Given the description of an element on the screen output the (x, y) to click on. 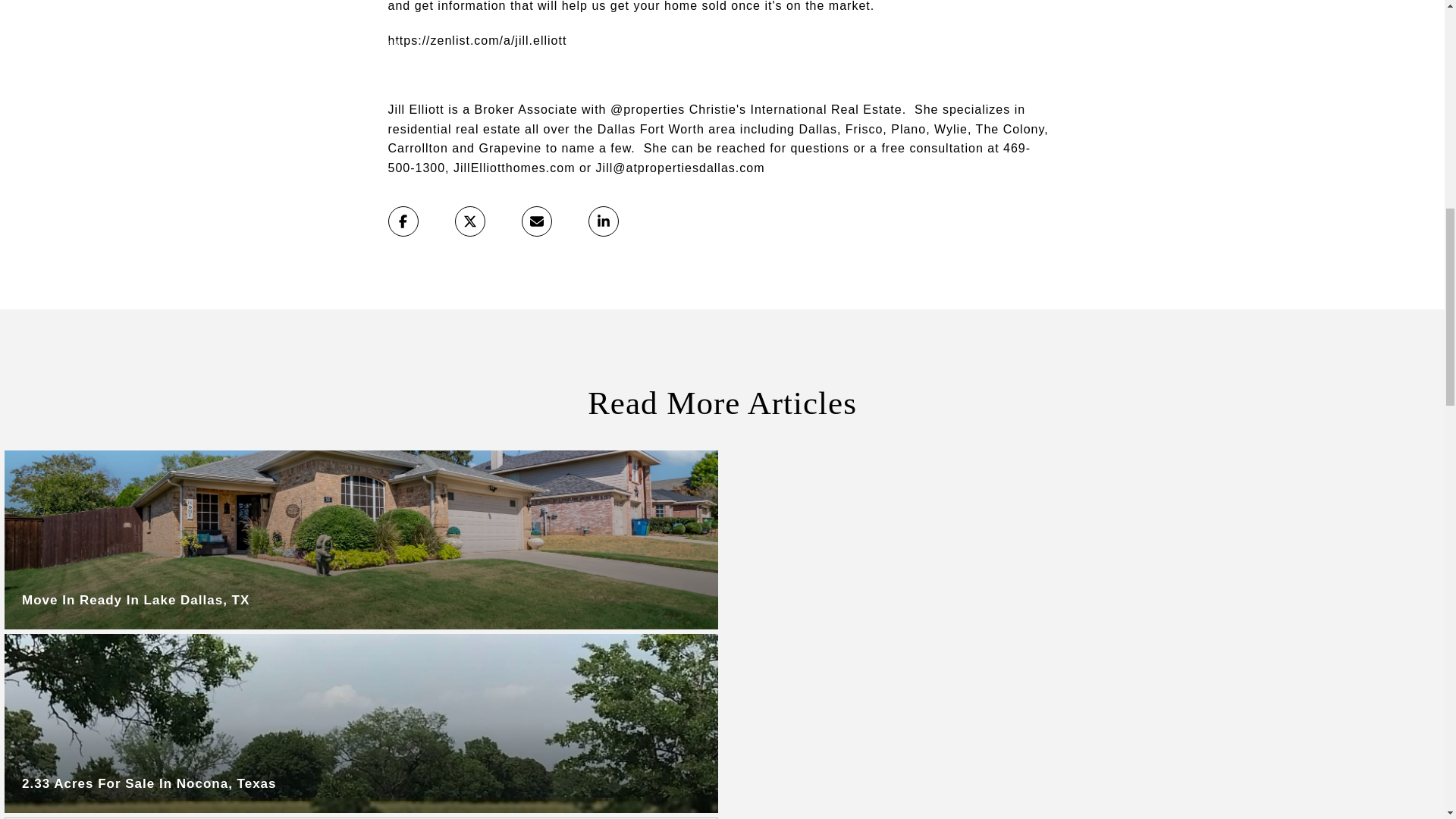
2.33 Acres For Sale In Nocona, Texas (360, 723)
Your Exclusive DFW Home Search  (477, 40)
Move In Ready In Lake Dallas, TX (360, 539)
